Given the description of an element on the screen output the (x, y) to click on. 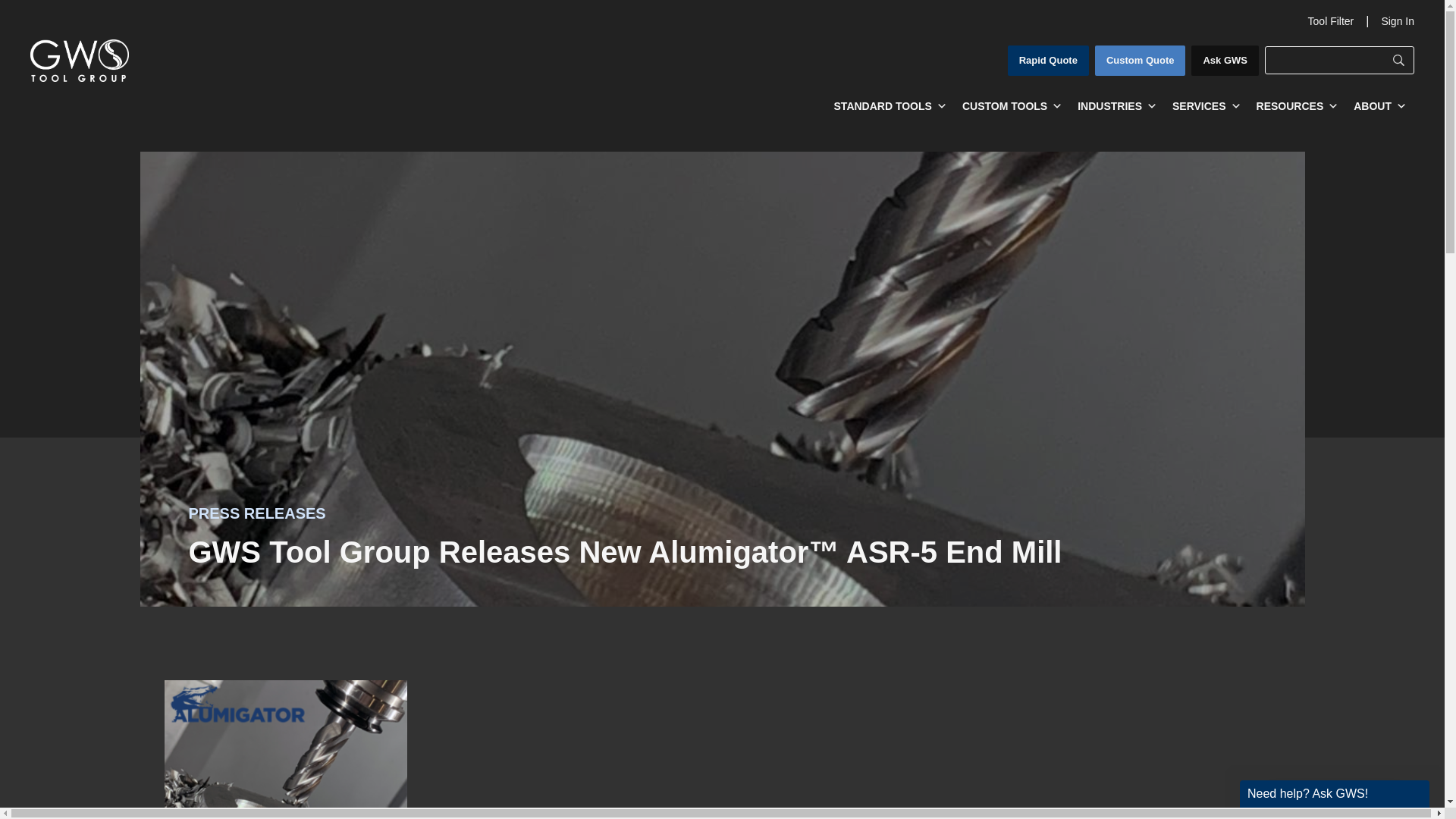
STANDARD TOOLS (891, 105)
Rapid Quote (1048, 60)
ChatBot chat widget (1334, 785)
Sign In (1396, 20)
Rapid Quote (1048, 60)
Custom Quote (1140, 60)
Tool Filter (1330, 20)
Ask GWS (1225, 60)
Custom Quote (1140, 60)
